Given the description of an element on the screen output the (x, y) to click on. 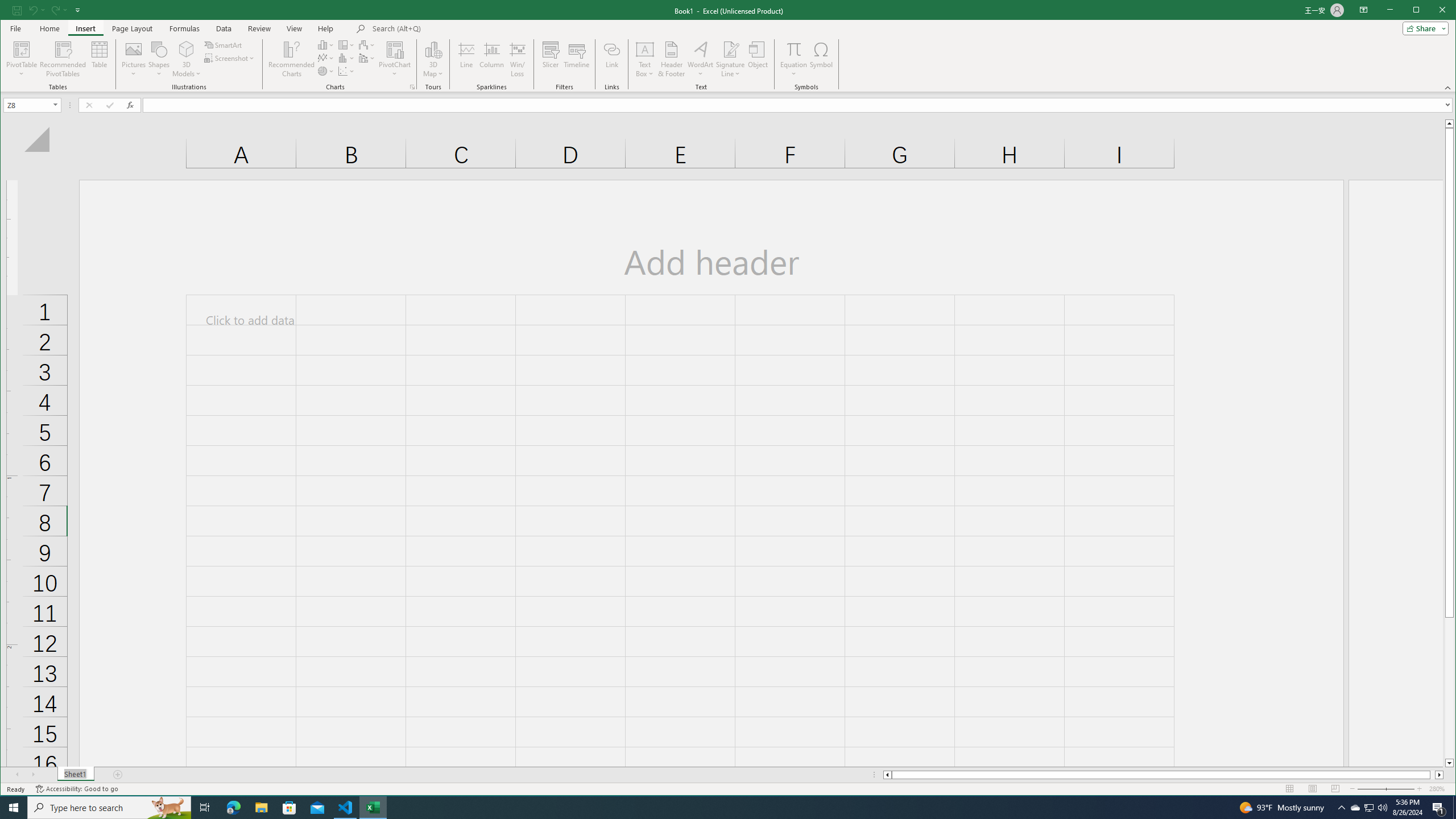
Microsoft Store (289, 807)
Insert Hierarchy Chart (346, 44)
Object... (757, 59)
Action Center, 1 new notification (1439, 807)
Recommended Charts (411, 86)
Pictures (133, 59)
File Explorer (261, 807)
Start (13, 807)
